Given the description of an element on the screen output the (x, y) to click on. 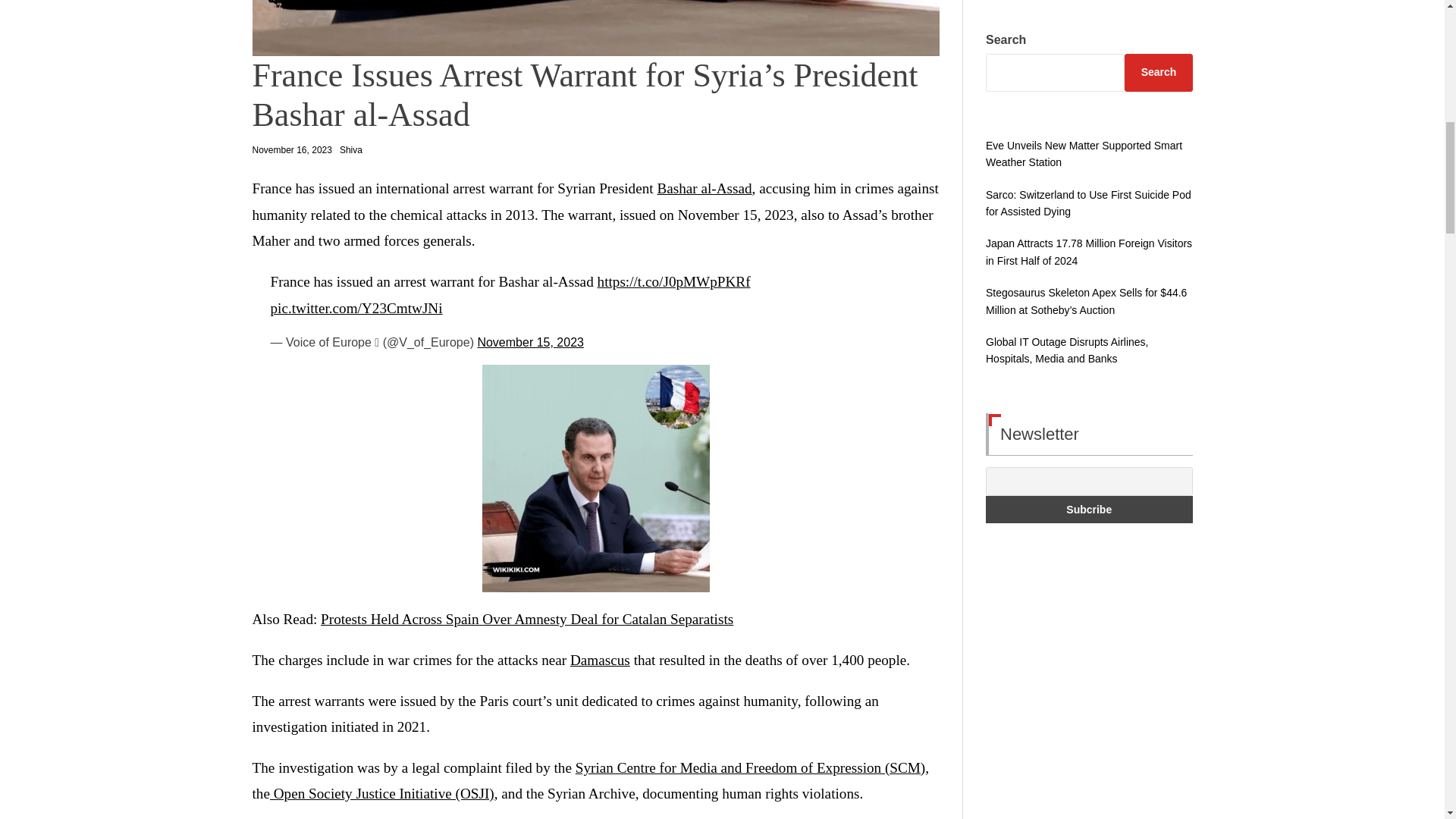
Damascus (600, 659)
Bashar al-Assad (703, 188)
November 16, 2023 (291, 150)
November 15, 2023 (530, 341)
Shiva (350, 149)
